Given the description of an element on the screen output the (x, y) to click on. 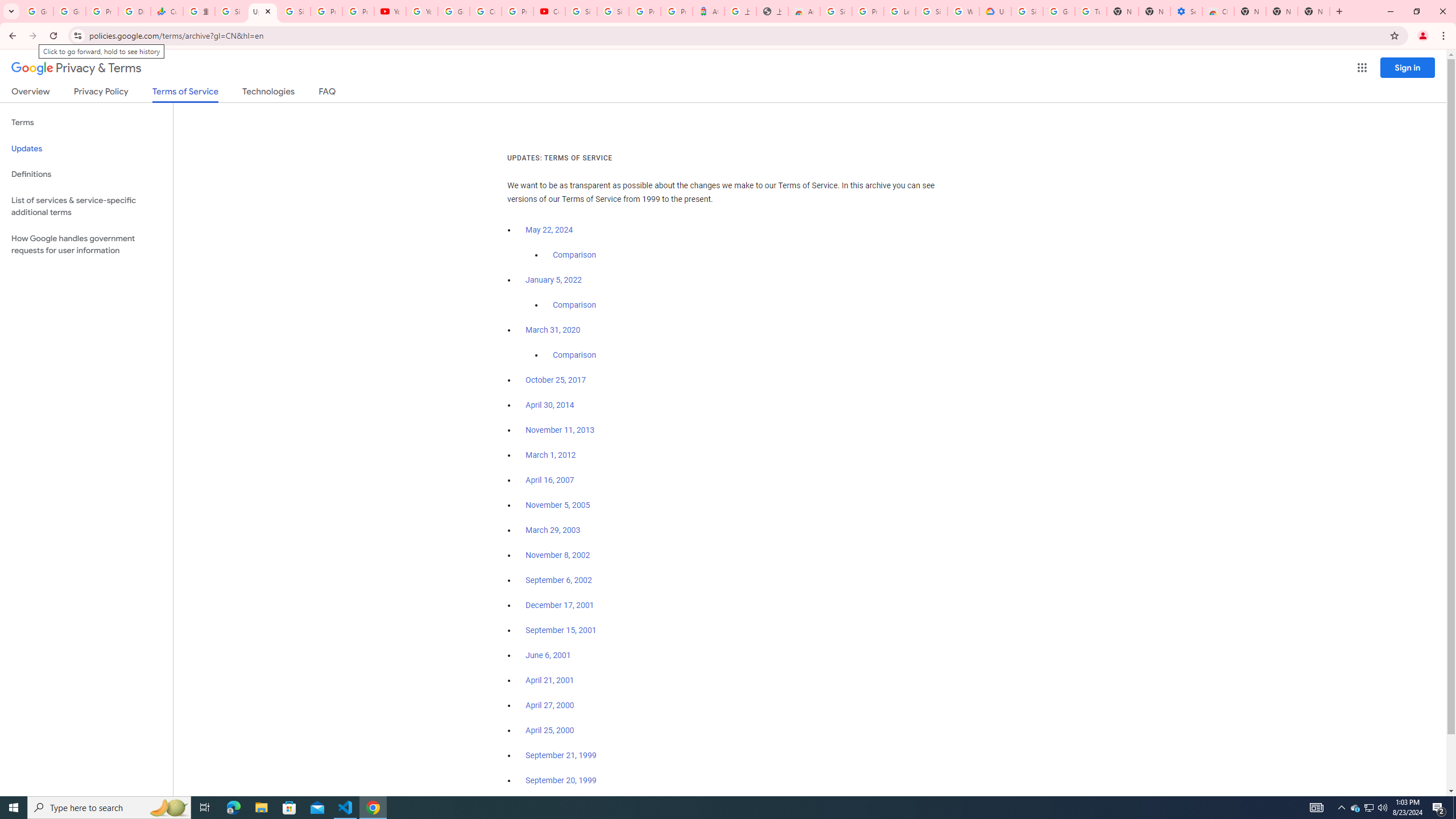
Sign in - Google Accounts (836, 11)
Settings - Accessibility (1185, 11)
Sign in - Google Accounts (1027, 11)
Create your Google Account (485, 11)
Google Account Help (1059, 11)
April 21, 2001 (550, 679)
